Given the description of an element on the screen output the (x, y) to click on. 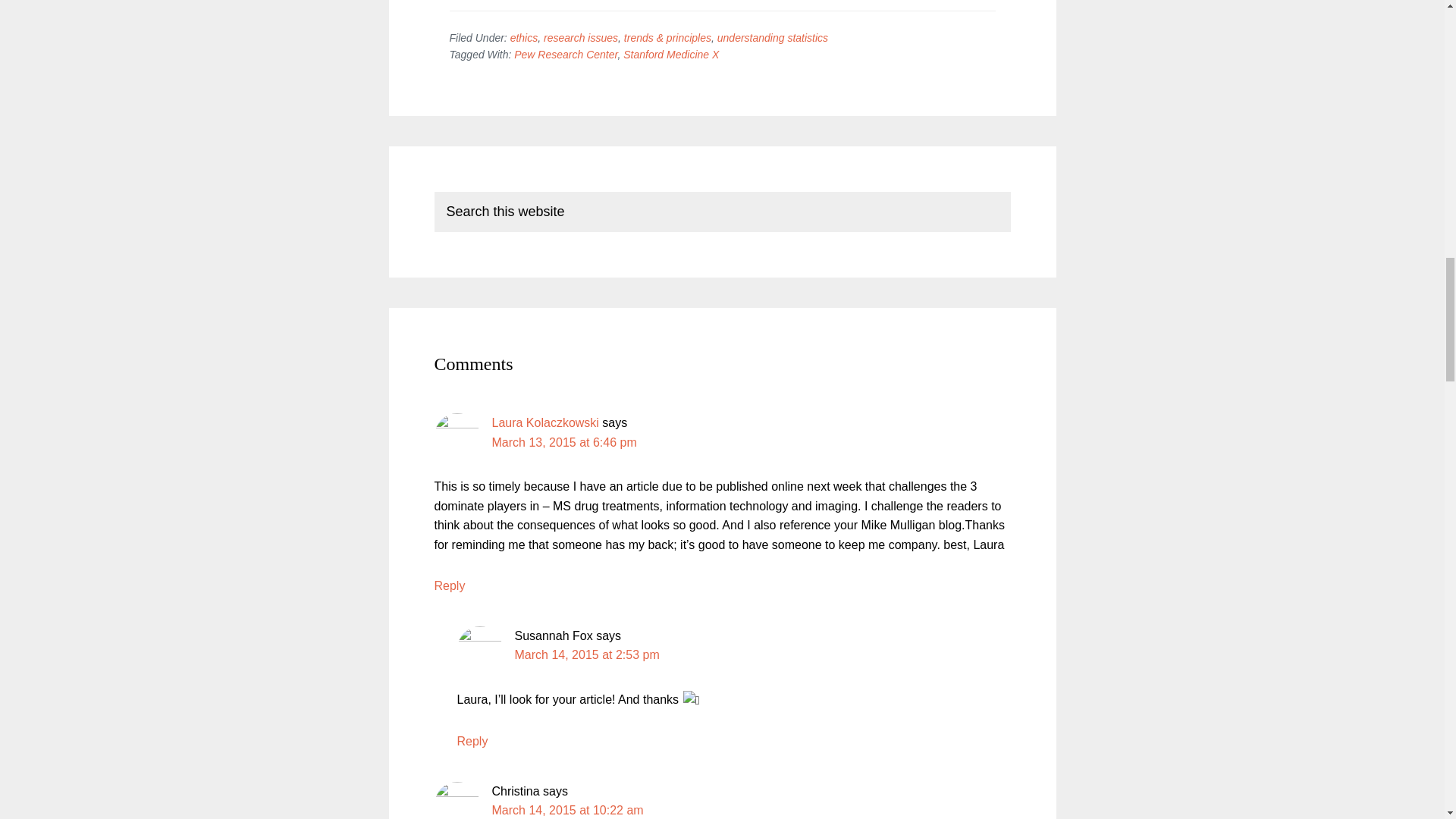
Laura Kolaczkowski (545, 422)
research issues (580, 37)
ethics (524, 37)
understanding statistics (772, 37)
Stanford Medicine X (671, 54)
Pew Research Center (565, 54)
